Given the description of an element on the screen output the (x, y) to click on. 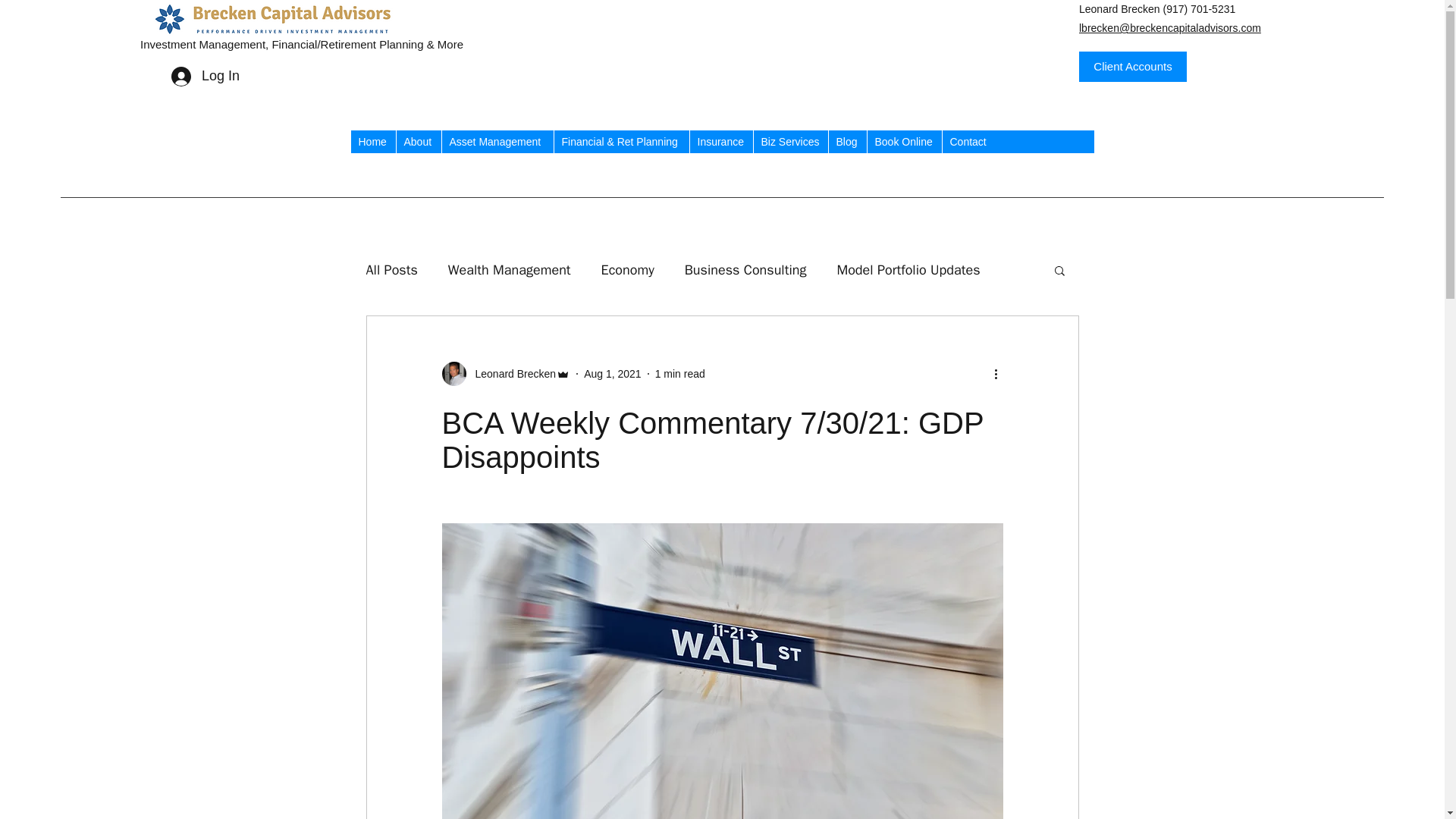
Leonard Brecken (510, 374)
1 min read (679, 373)
Leonard Brecken (505, 373)
Log In (205, 76)
All Posts (390, 270)
Contact (969, 141)
About (418, 141)
Book Online (903, 141)
Wealth Management (509, 270)
Biz Services (789, 141)
Blog (847, 141)
Home (372, 141)
Model Portfolio Updates (907, 270)
Aug 1, 2021 (612, 373)
Economy (627, 270)
